Given the description of an element on the screen output the (x, y) to click on. 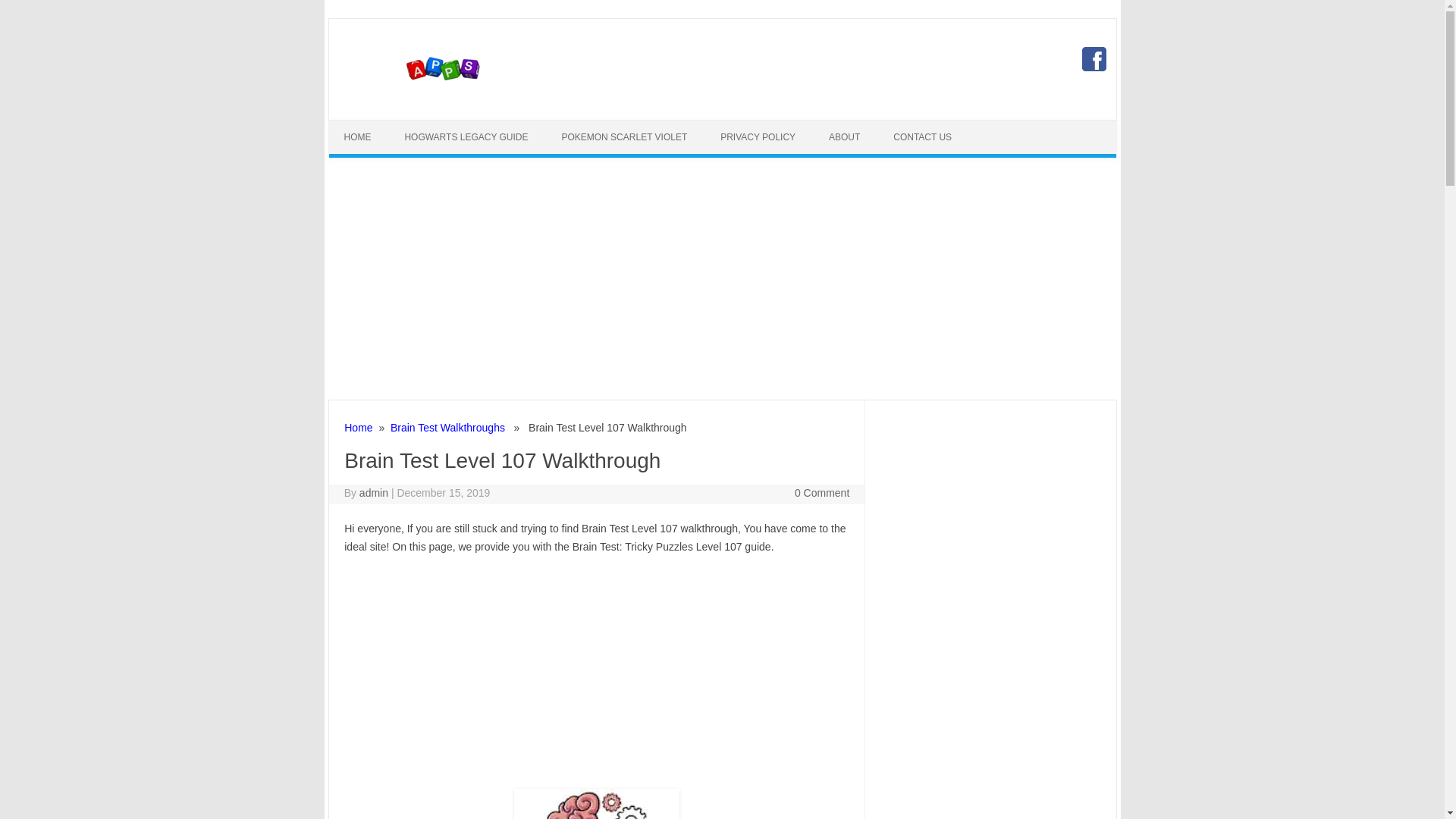
ABOUT (844, 136)
POKEMON SCARLET VIOLET (623, 136)
0 Comment (821, 492)
Advertisement (595, 673)
CONTACT US (921, 136)
Brain Test Walkthroughs (447, 427)
PRIVACY POLICY (757, 136)
HOME (358, 136)
HOGWARTS LEGACY GUIDE (465, 136)
Posts by admin (373, 492)
Home (357, 427)
admin (373, 492)
Skip to content (757, 124)
Apps Answers .net (441, 93)
